Given the description of an element on the screen output the (x, y) to click on. 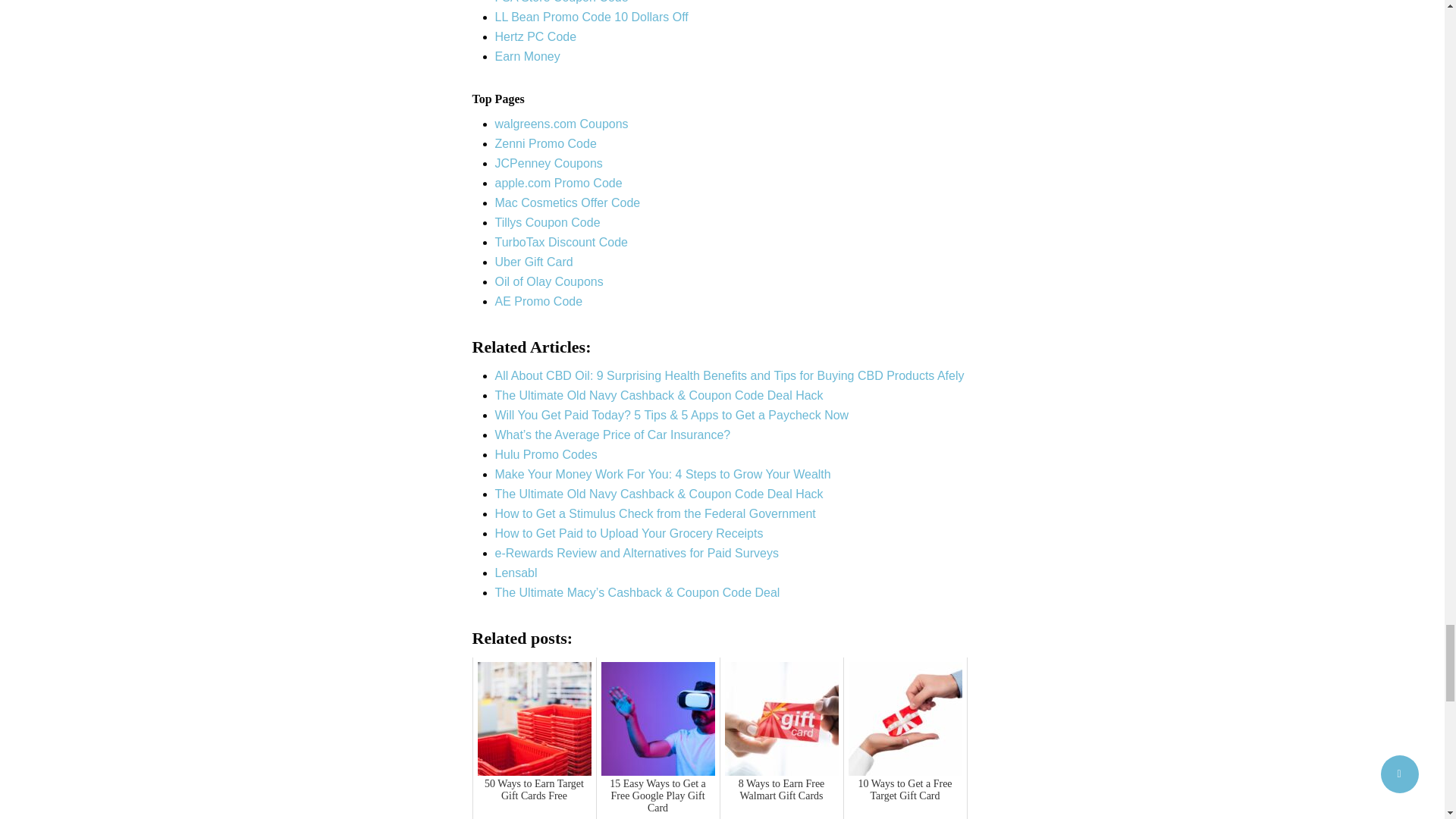
FSA Store Coupon Code (561, 2)
